Given the description of an element on the screen output the (x, y) to click on. 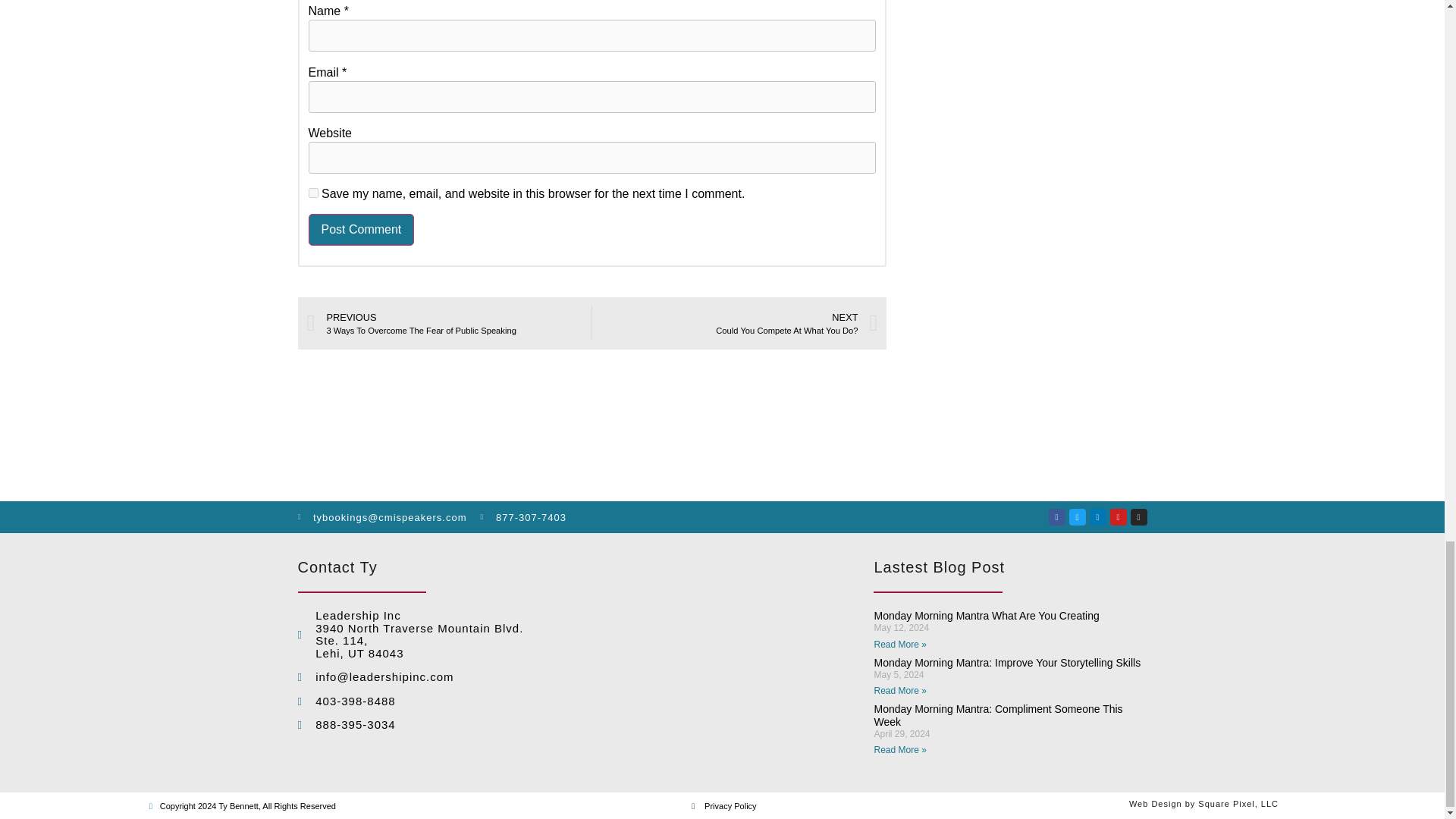
yes (312, 193)
Post Comment (360, 229)
